Given the description of an element on the screen output the (x, y) to click on. 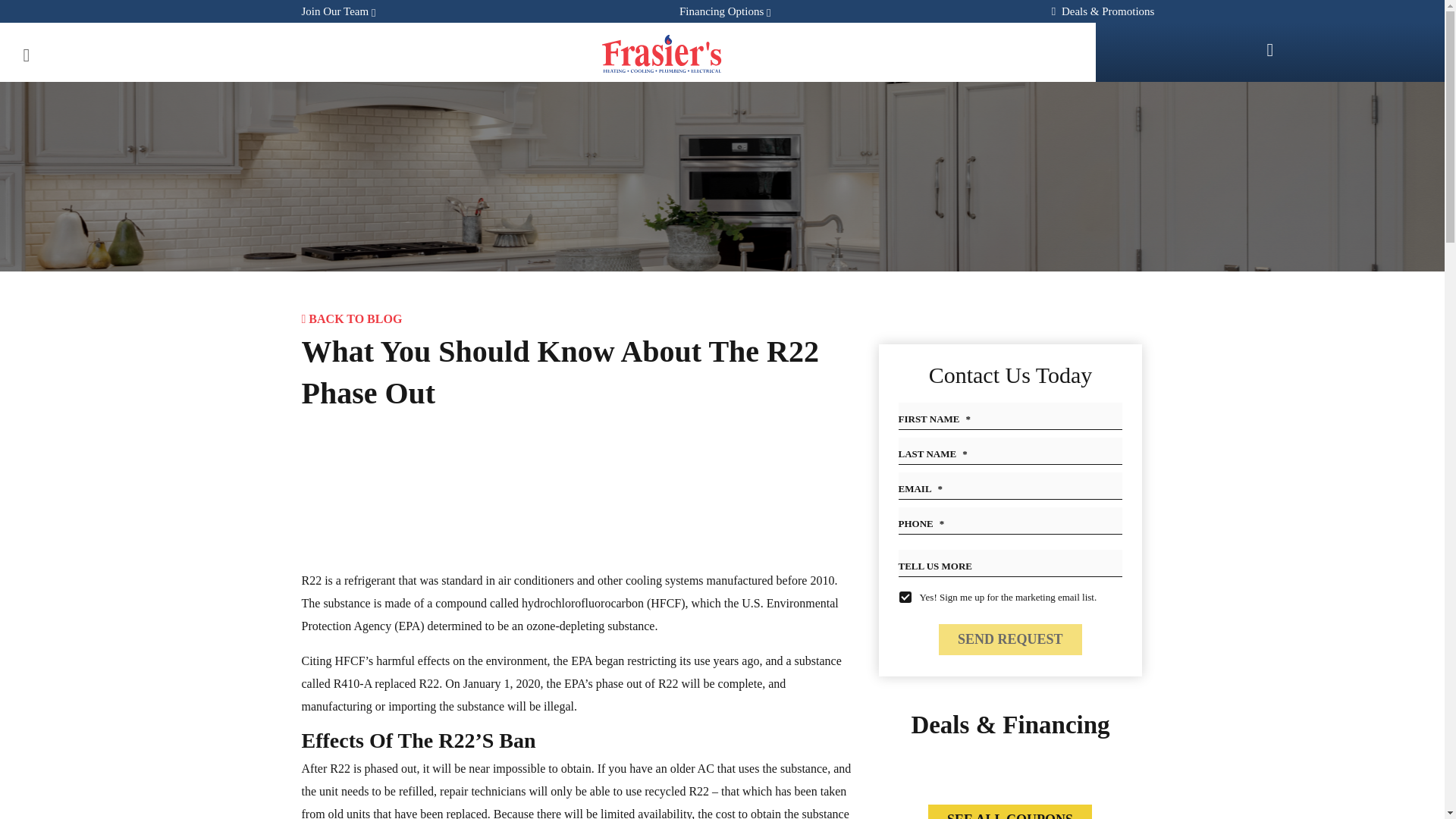
Yes! Sign me up for the marketing email list. (905, 596)
Join Our Team (338, 11)
  Financing Options (721, 11)
